Given the description of an element on the screen output the (x, y) to click on. 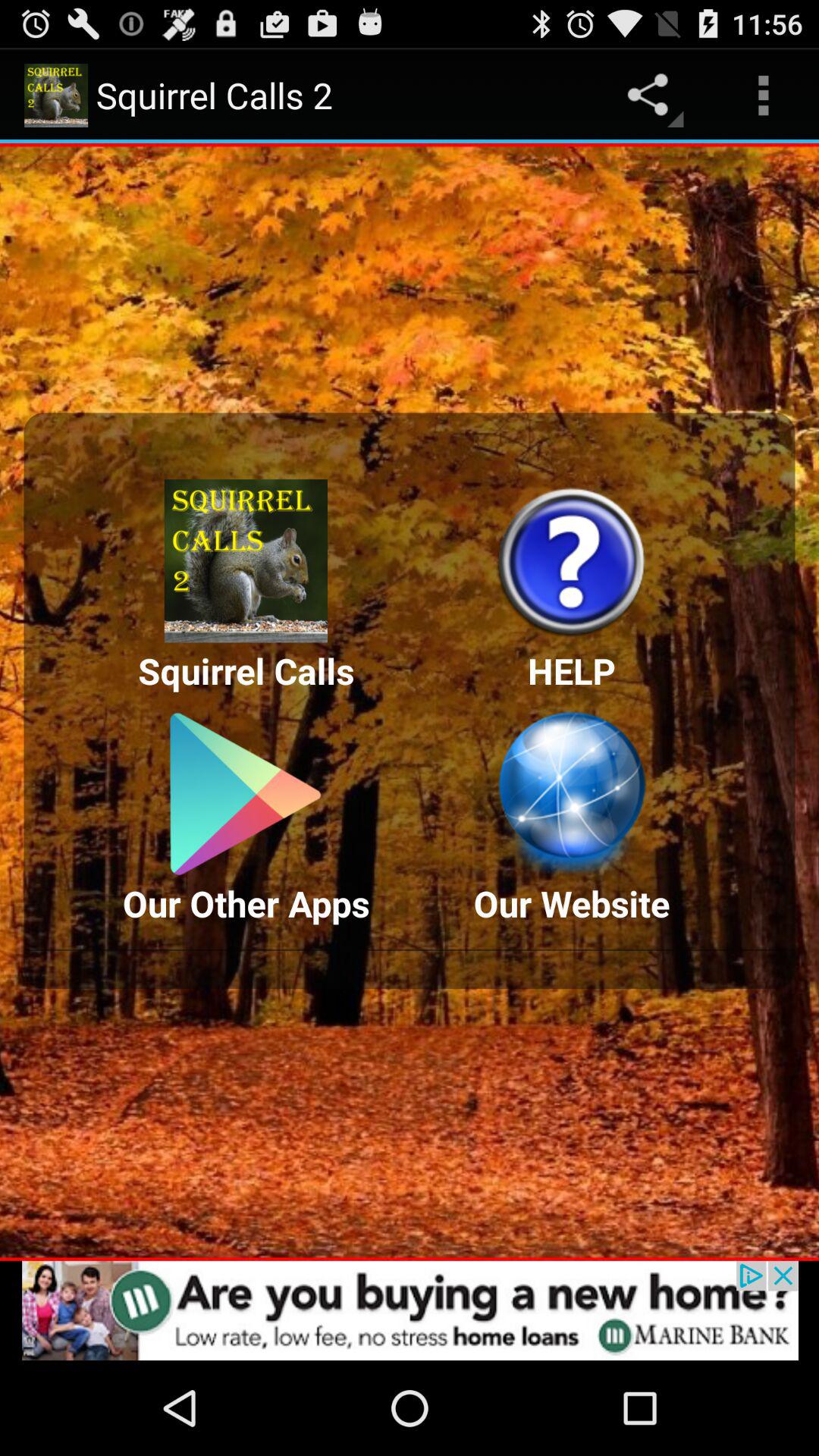
advertising (409, 1310)
